Given the description of an element on the screen output the (x, y) to click on. 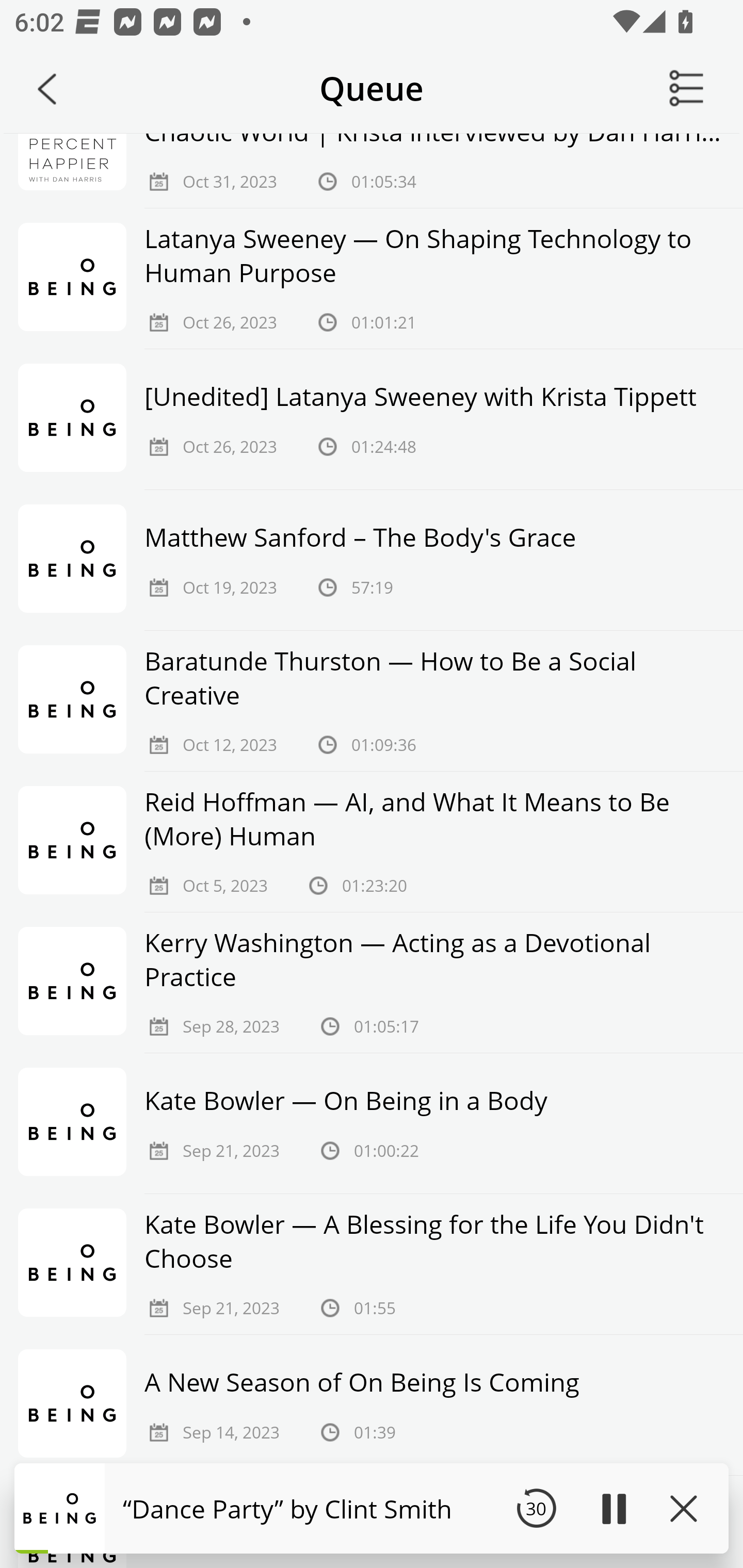
Back (46, 88)
Play (613, 1507)
30 Seek Backward (536, 1508)
